Given the description of an element on the screen output the (x, y) to click on. 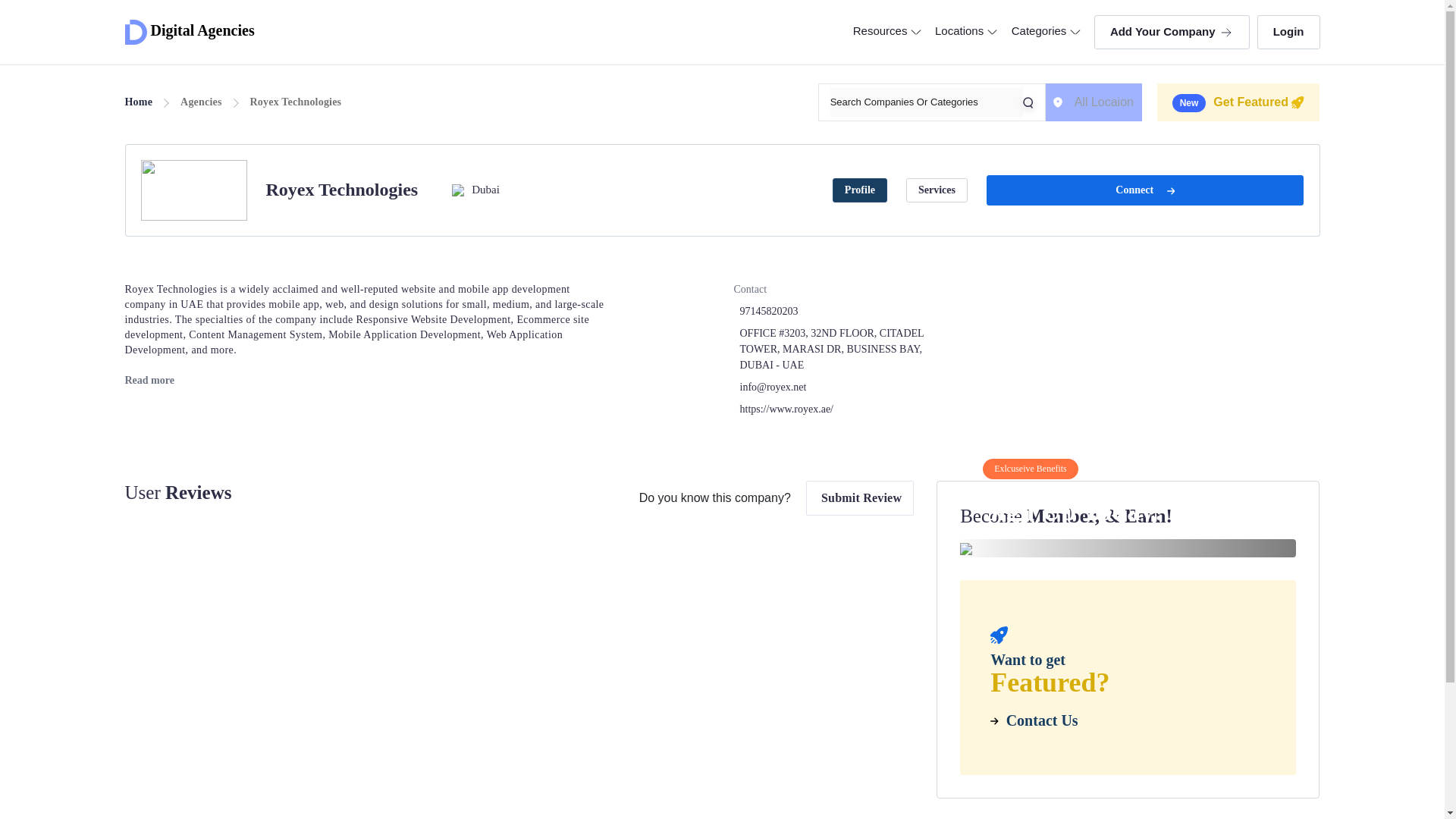
Resources (886, 31)
Locations (965, 31)
Digital Agencies (188, 32)
Categories (1045, 31)
